Given the description of an element on the screen output the (x, y) to click on. 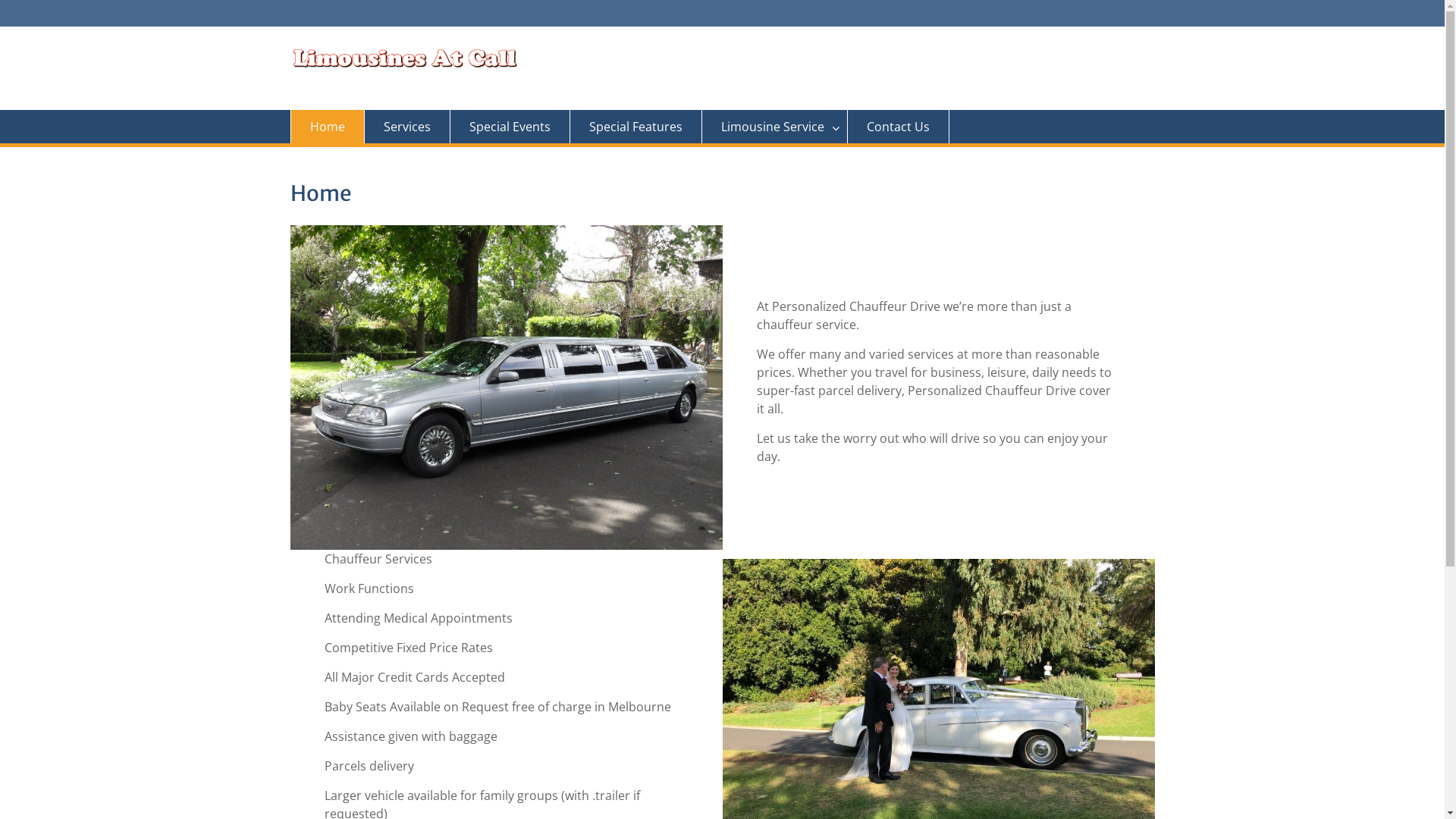
Services Element type: text (406, 126)
Limousine Service Element type: text (774, 126)
Home Element type: text (326, 126)
Special Events Element type: text (510, 126)
Special Features Element type: text (636, 126)
Contact Us Element type: text (898, 126)
